Given the description of an element on the screen output the (x, y) to click on. 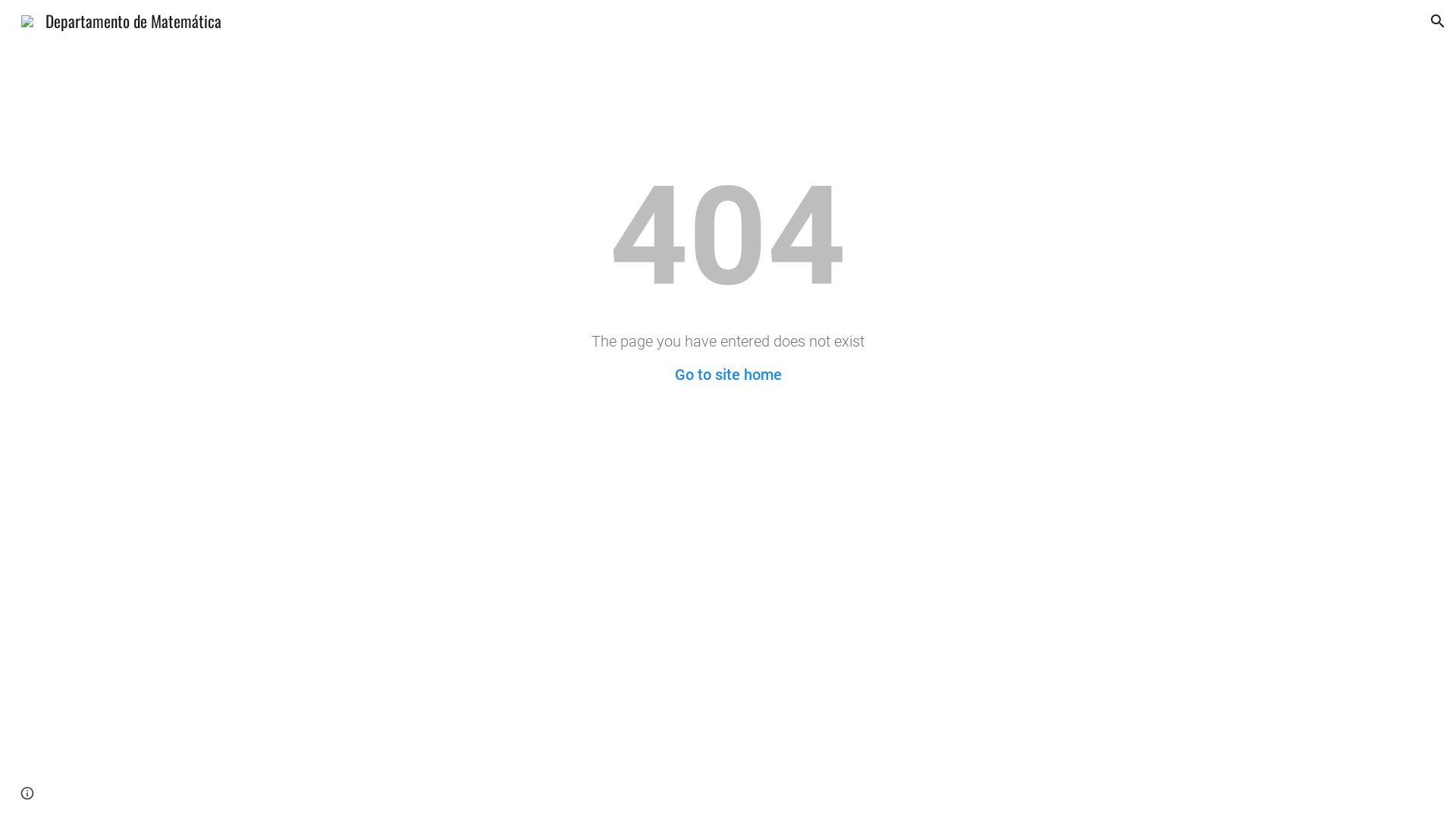
Go to site home Element type: text (727, 374)
